Given the description of an element on the screen output the (x, y) to click on. 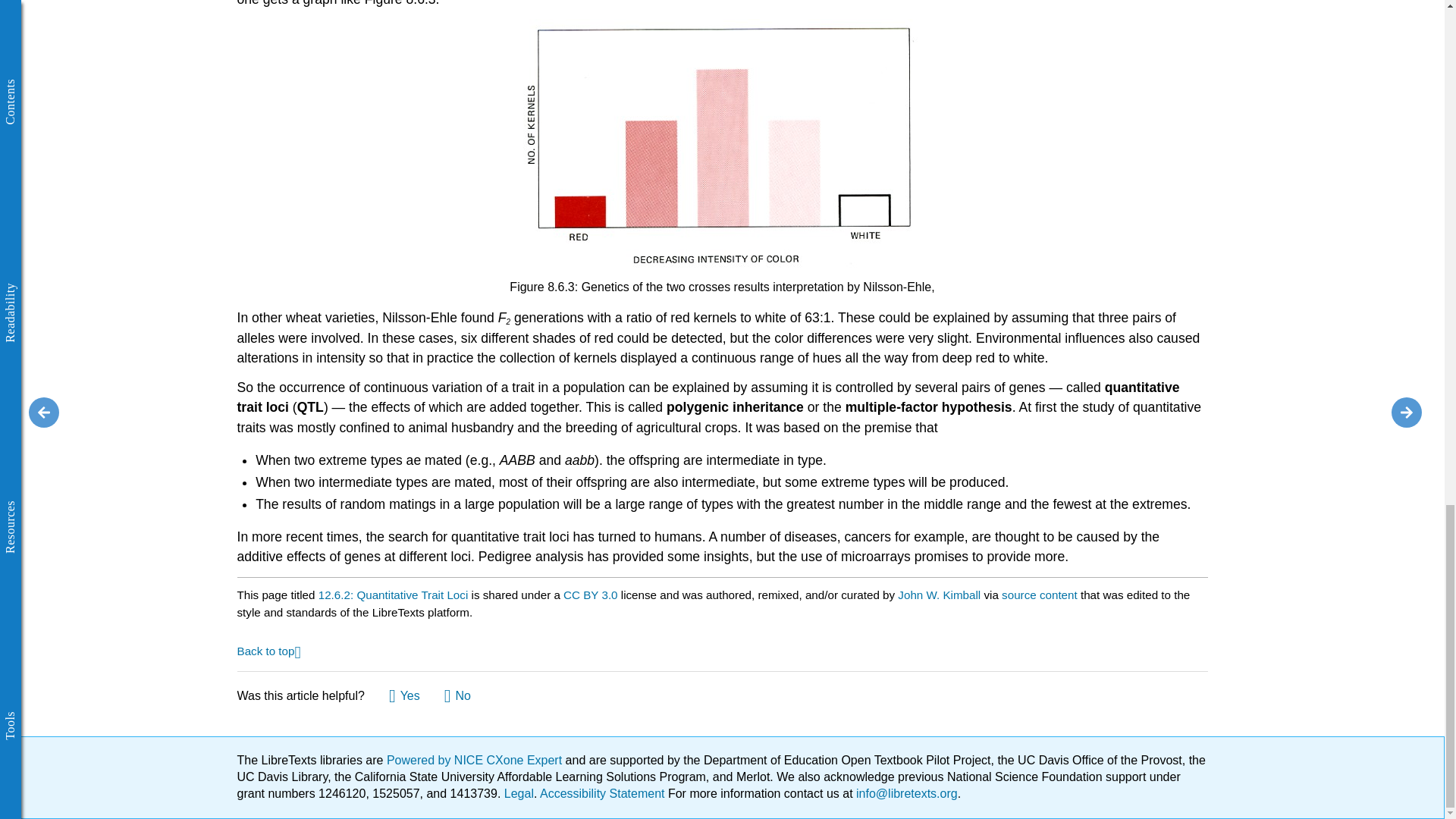
Jump back to top of this article (267, 650)
